Given the description of an element on the screen output the (x, y) to click on. 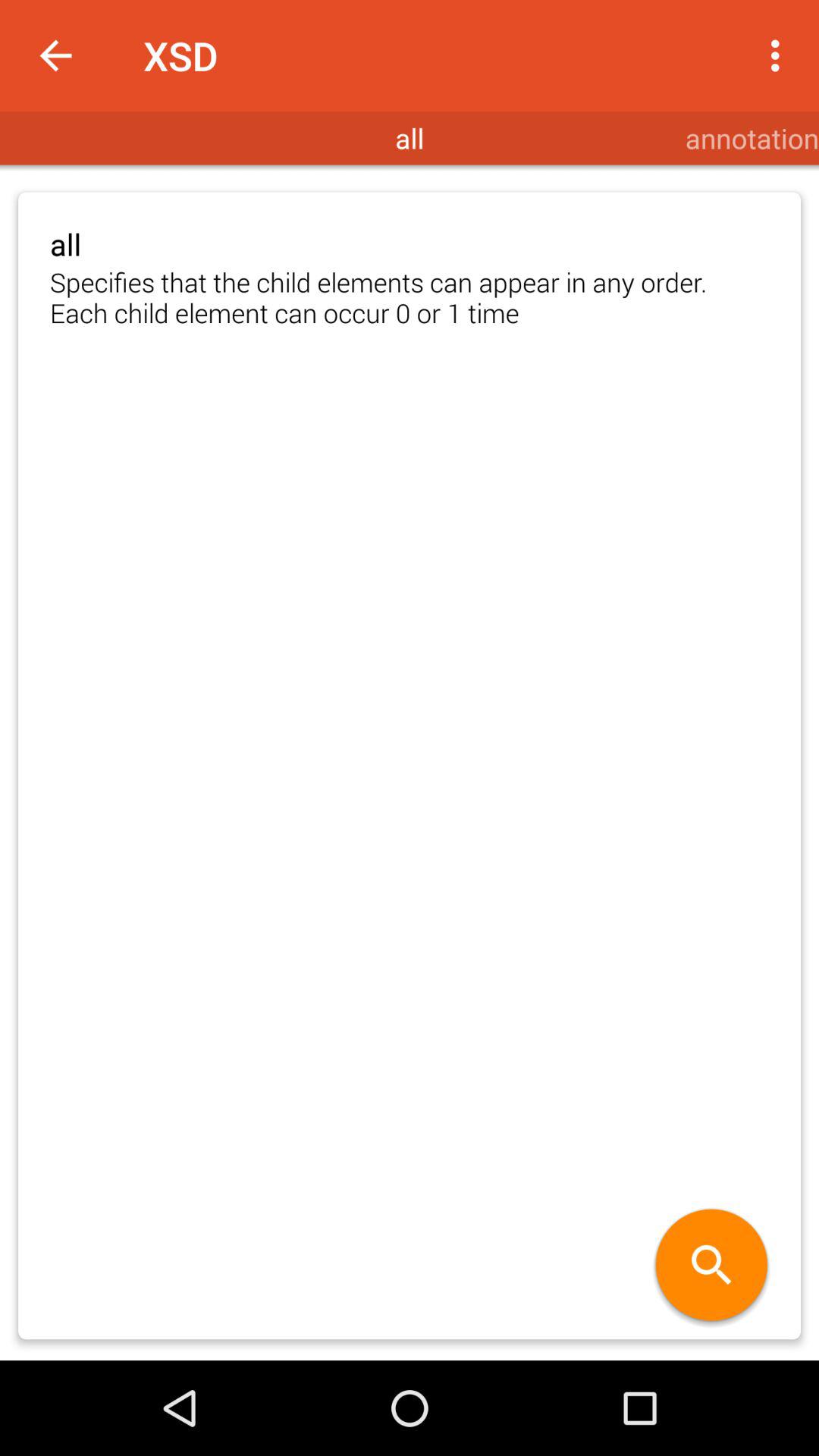
turn on app next to xsd (779, 55)
